Given the description of an element on the screen output the (x, y) to click on. 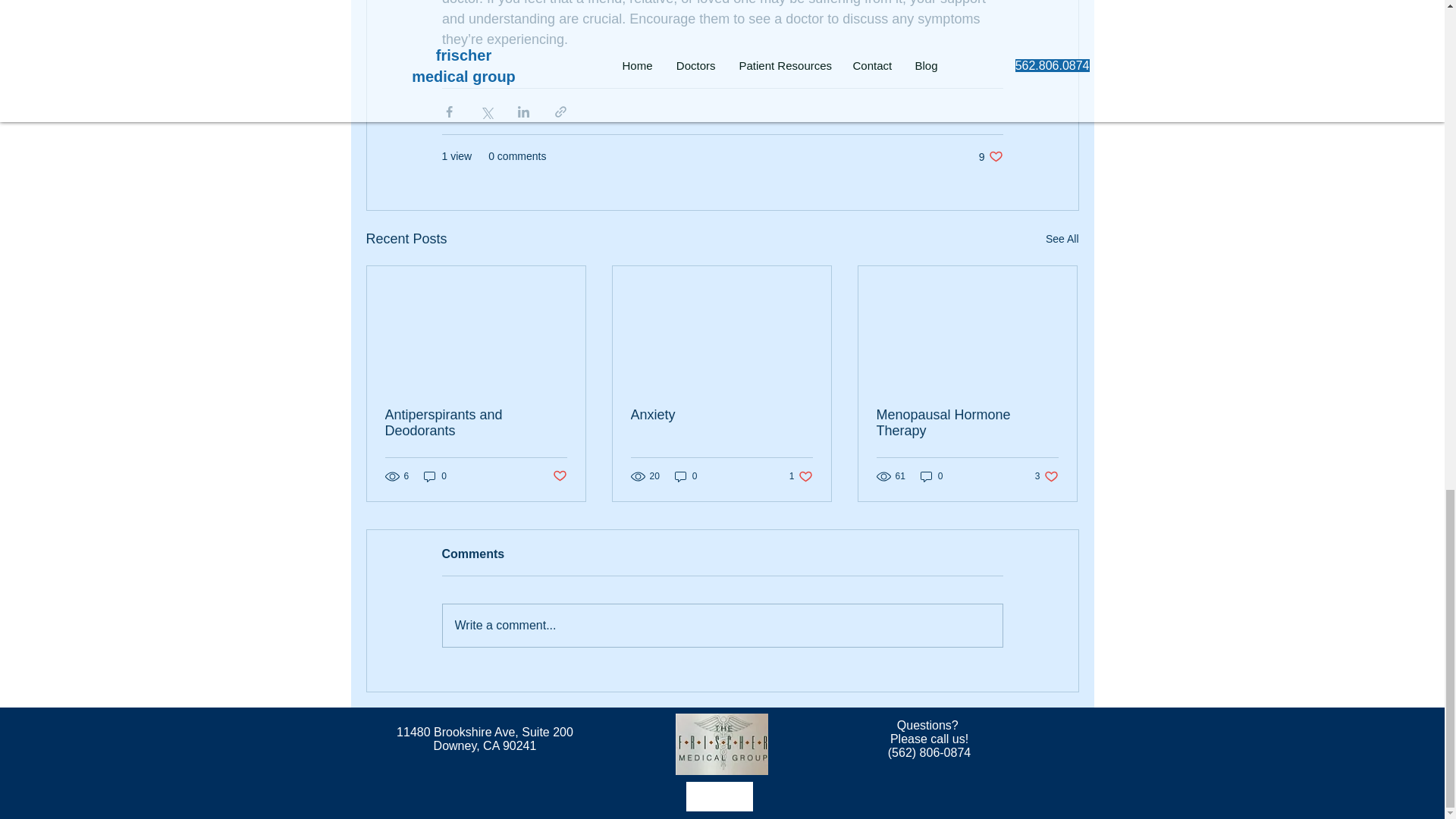
Anxiety (721, 415)
Post not marked as liked (990, 156)
Menopausal Hormone Therapy (558, 475)
Write a comment... (967, 422)
0 (800, 476)
See All (484, 738)
Antiperspirants and Deodorants (722, 625)
0 (435, 476)
0 (1061, 239)
